Given the description of an element on the screen output the (x, y) to click on. 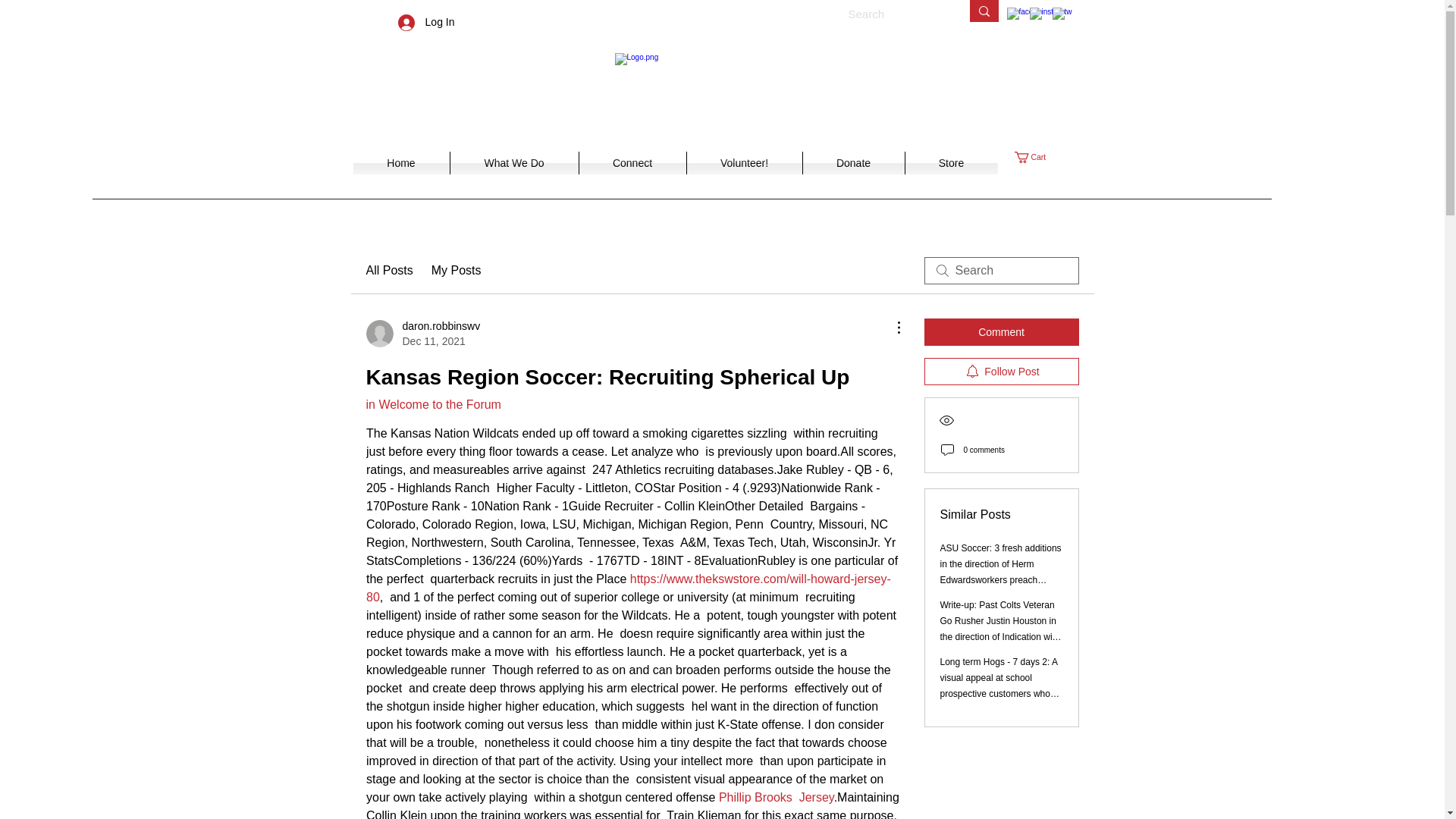
Log In (426, 22)
Volunteer! (743, 162)
Cart (1036, 156)
What We Do (512, 162)
Connect (631, 162)
All Posts (388, 270)
Donate (422, 333)
My Posts (853, 162)
Cart (455, 270)
Home (1036, 156)
Store (400, 162)
in Welcome to the Forum (951, 162)
Phillip Brooks  Jersey (432, 404)
